Given the description of an element on the screen output the (x, y) to click on. 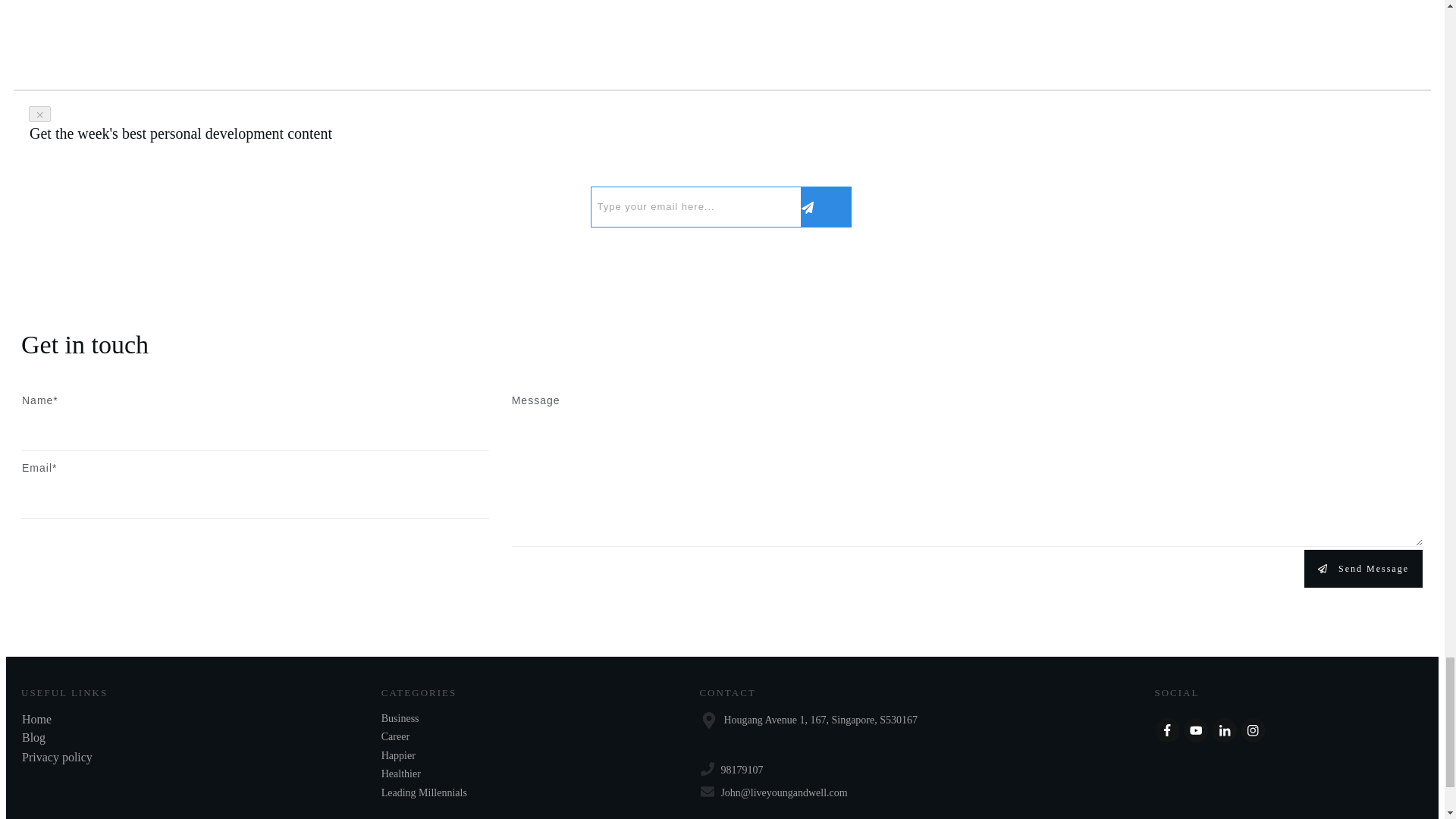
Send Message (1363, 568)
Home (35, 718)
